Given the description of an element on the screen output the (x, y) to click on. 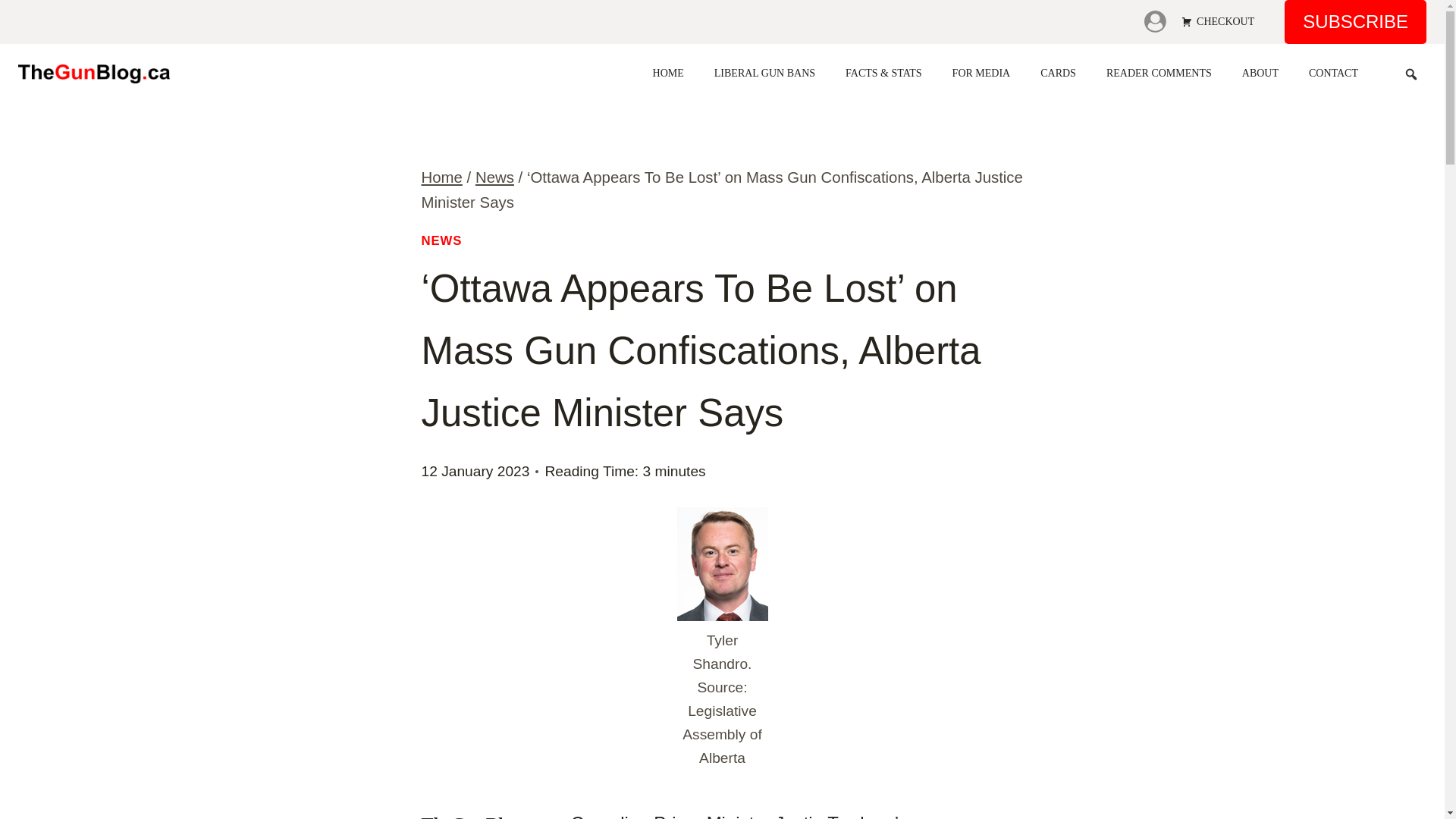
SUBSCRIBE (1355, 22)
CHECKOUT (1217, 21)
Search (18, 22)
HOME (668, 73)
CONTACT (1333, 73)
News (494, 176)
NEWS (442, 240)
ABOUT (1259, 73)
CARDS (1057, 73)
LIBERAL GUN BANS (764, 73)
READER COMMENTS (1159, 73)
Home (442, 176)
FOR MEDIA (980, 73)
